Given the description of an element on the screen output the (x, y) to click on. 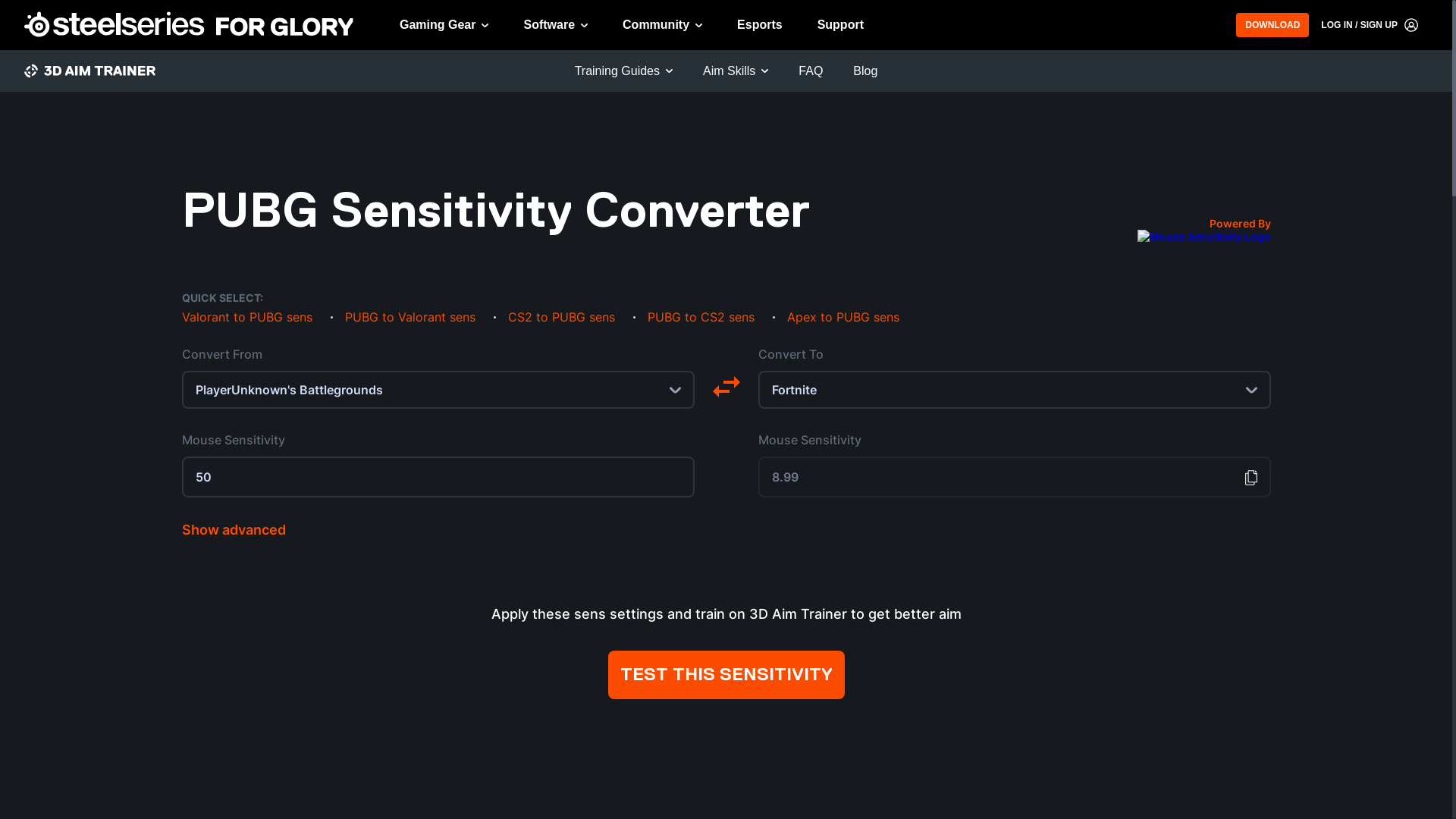
LOG IN / SIGN UP Element type: text (1369, 24)
Community Element type: text (662, 25)
PUBG to CS2 sens Element type: text (700, 316)
Software Element type: text (555, 25)
FAQ Element type: text (810, 70)
Apex to PUBG sens Element type: text (843, 316)
PUBG to Valorant sens Element type: text (409, 316)
TEST THIS SENSITIVITY Element type: text (726, 674)
Support Element type: text (840, 25)
Gaming Gear Element type: text (443, 25)
DOWNLOAD Element type: text (1272, 24)
Esports Element type: text (759, 25)
Blog Element type: text (864, 70)
Valorant to PUBG sens Element type: text (247, 316)
CS2 to PUBG sens Element type: text (561, 316)
